Given the description of an element on the screen output the (x, y) to click on. 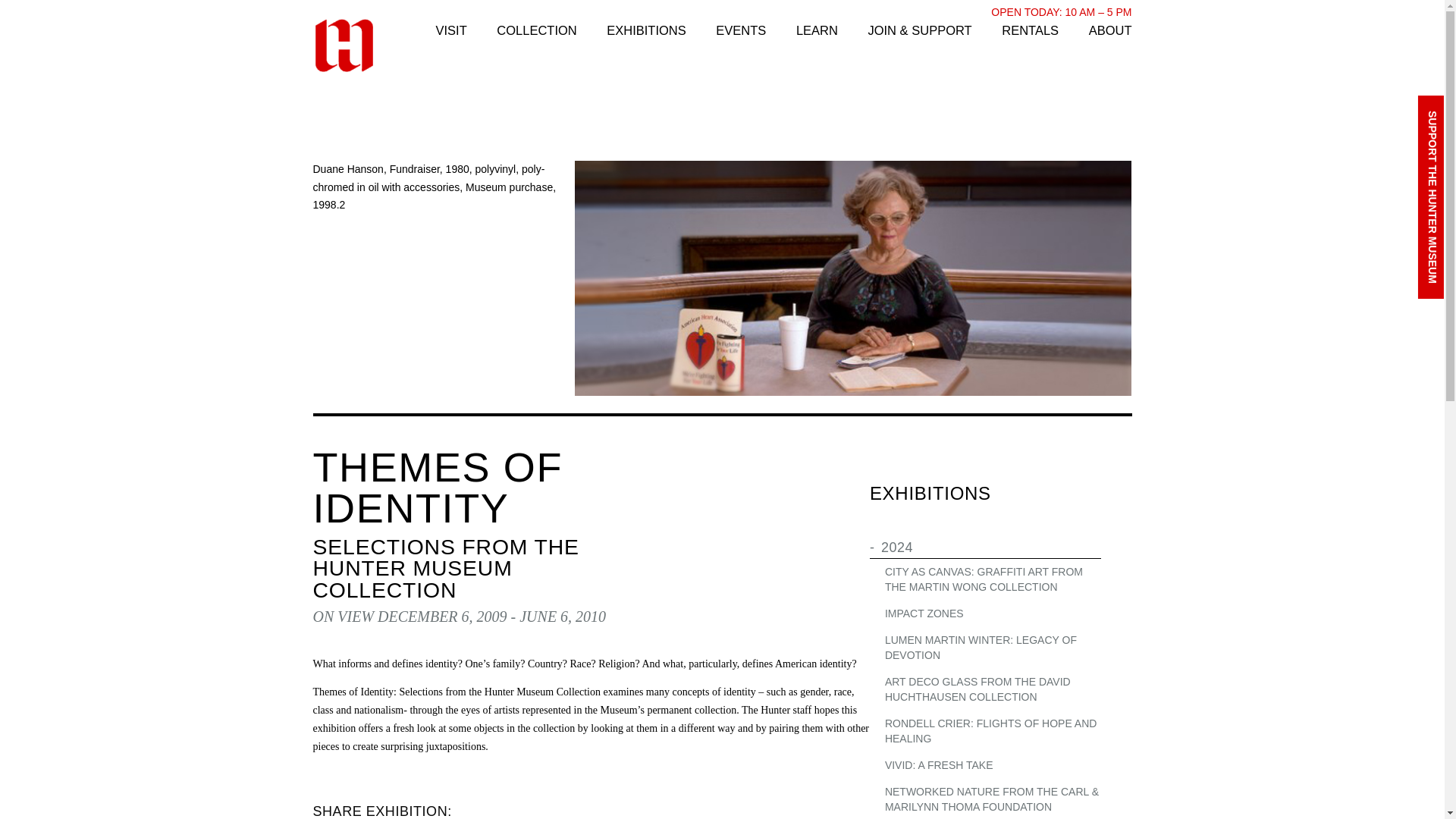
LEARN (817, 30)
RENTALS (1029, 30)
EXHIBITIONS (646, 30)
EVENTS (740, 30)
COLLECTION (536, 30)
VISIT (450, 30)
ABOUT (1110, 30)
